Given the description of an element on the screen output the (x, y) to click on. 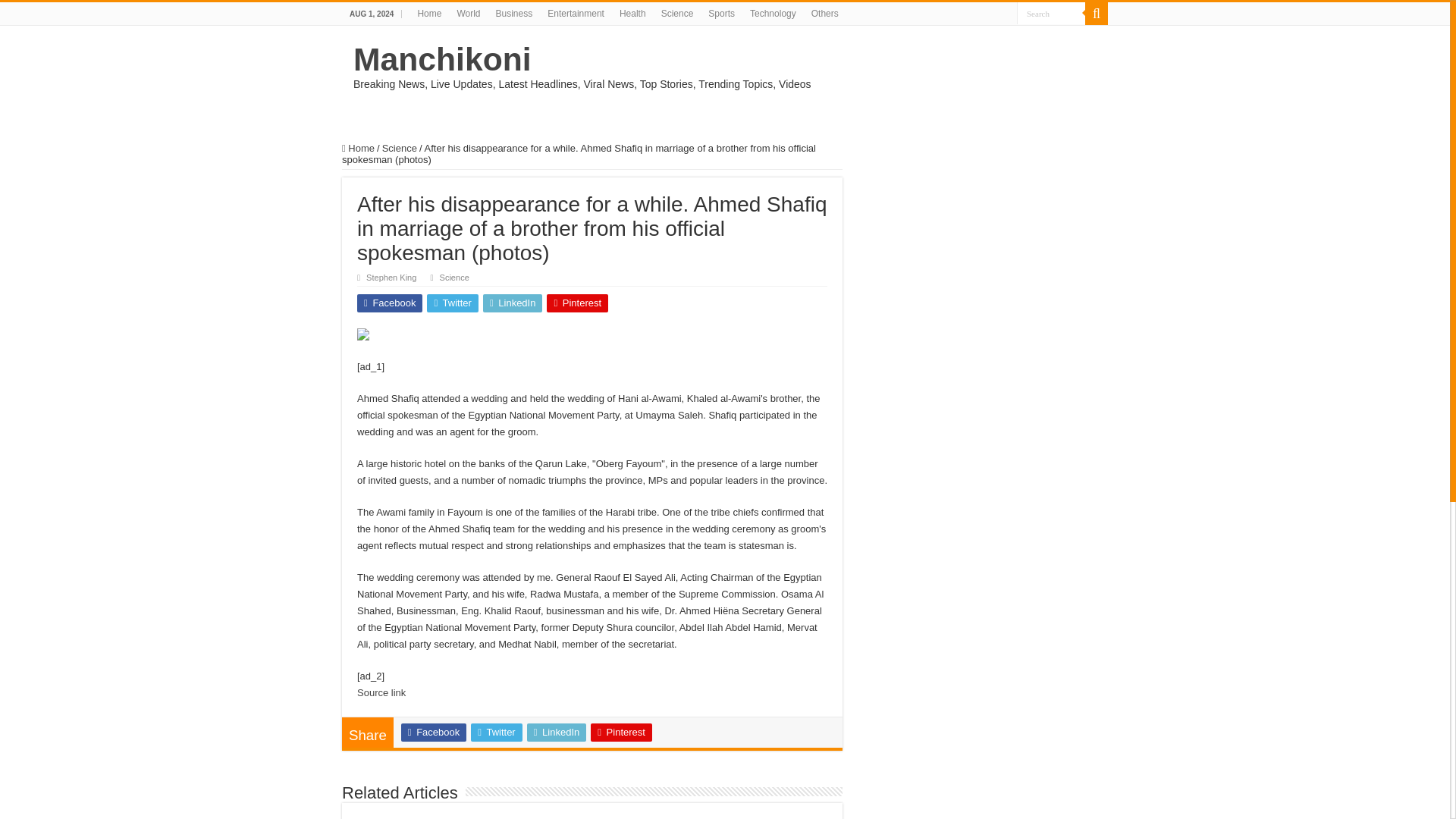
Home (358, 147)
Pinterest (621, 732)
Technology (772, 13)
Twitter (495, 732)
World (467, 13)
Source link (381, 692)
Science (453, 276)
LinkedIn (556, 732)
Search (1050, 13)
Sports (721, 13)
